Given the description of an element on the screen output the (x, y) to click on. 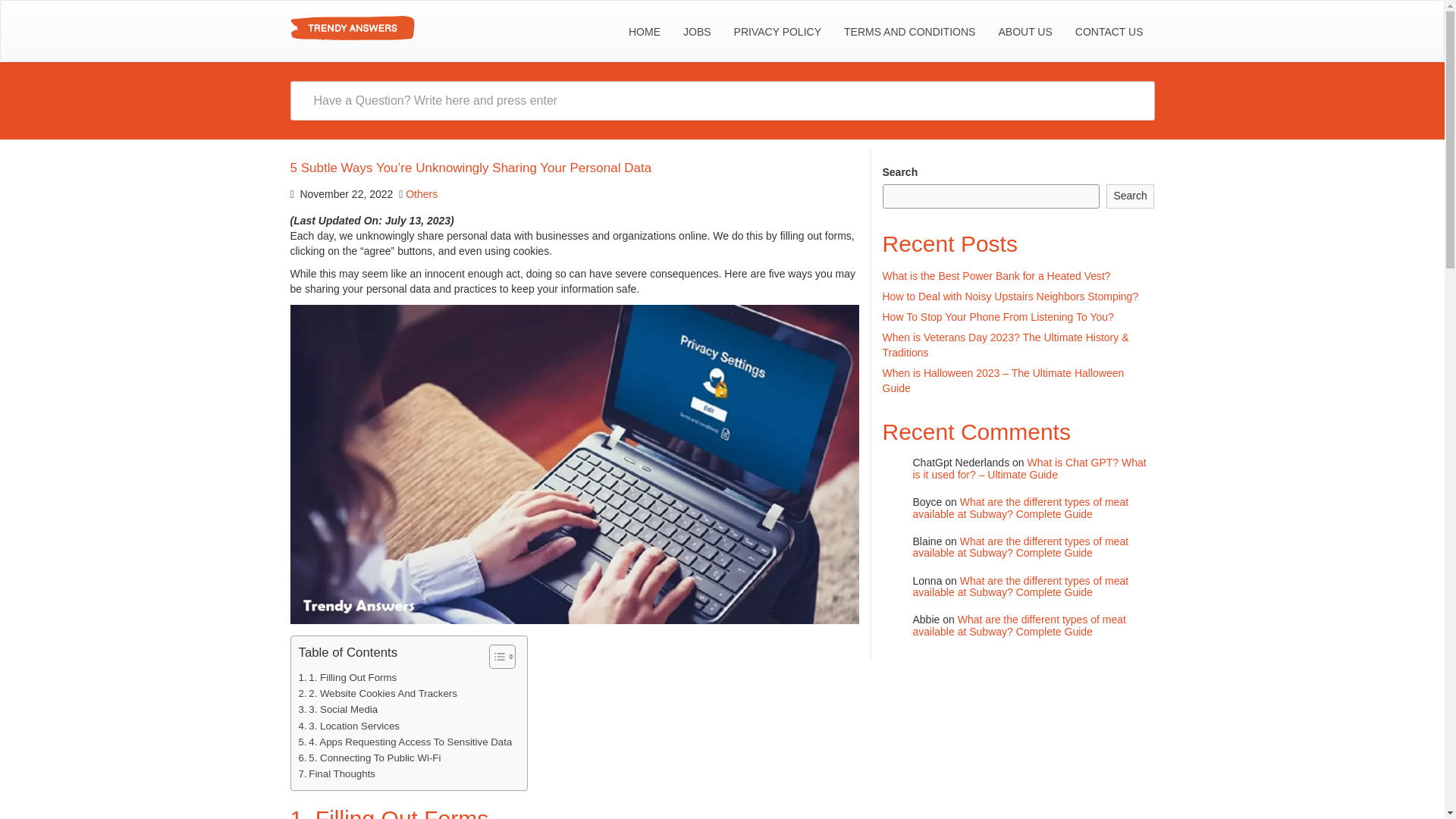
HOME (644, 31)
4. Apps Requesting Access To Sensitive Data (405, 741)
TERMS AND CONDITIONS (909, 31)
ABOUT US (1024, 31)
Search (1130, 196)
2. Website Cookies And Trackers (377, 693)
1. Filling Out Forms (347, 677)
3. Location Services (349, 725)
5. Connecting To Public Wi-Fi (369, 757)
